Given the description of an element on the screen output the (x, y) to click on. 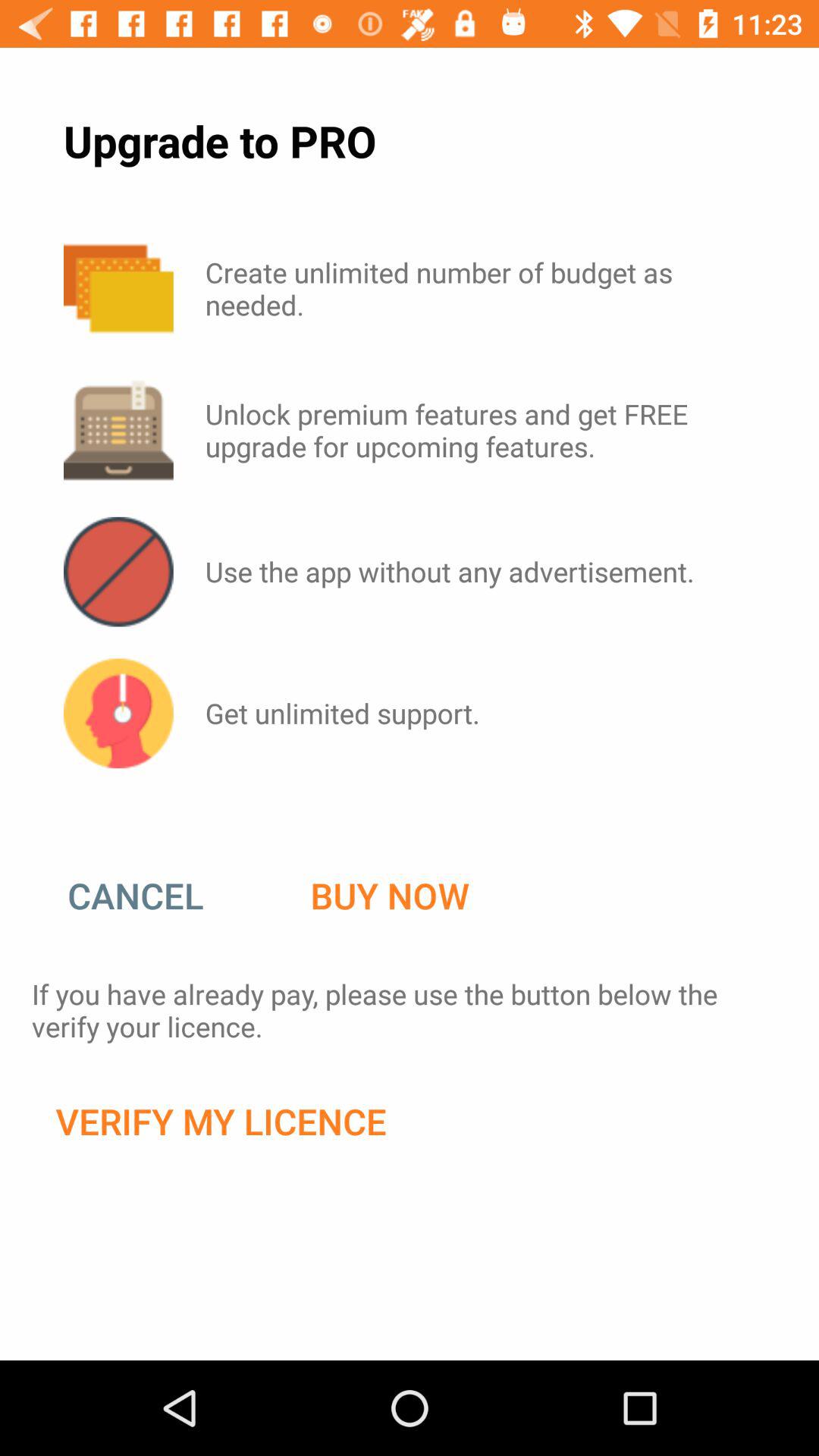
tap the item to the left of the buy now item (150, 895)
